Given the description of an element on the screen output the (x, y) to click on. 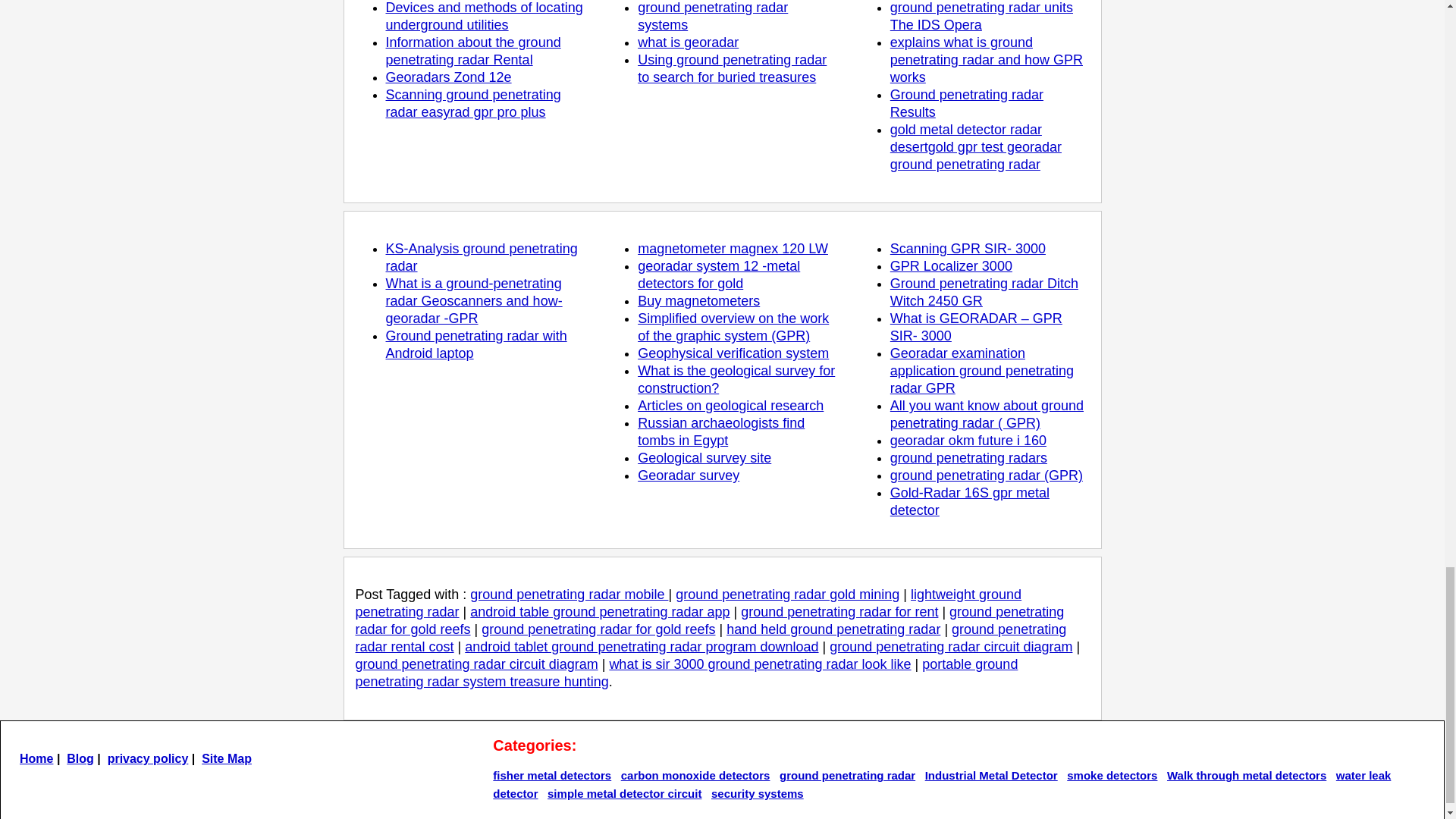
Information about the ground penetrating radar Rental (472, 51)
Devices and methods of locating underground utilities (483, 16)
Georadars Zond 12e (448, 77)
Scanning ground penetrating radar easyrad gpr pro plus (472, 102)
